Given the description of an element on the screen output the (x, y) to click on. 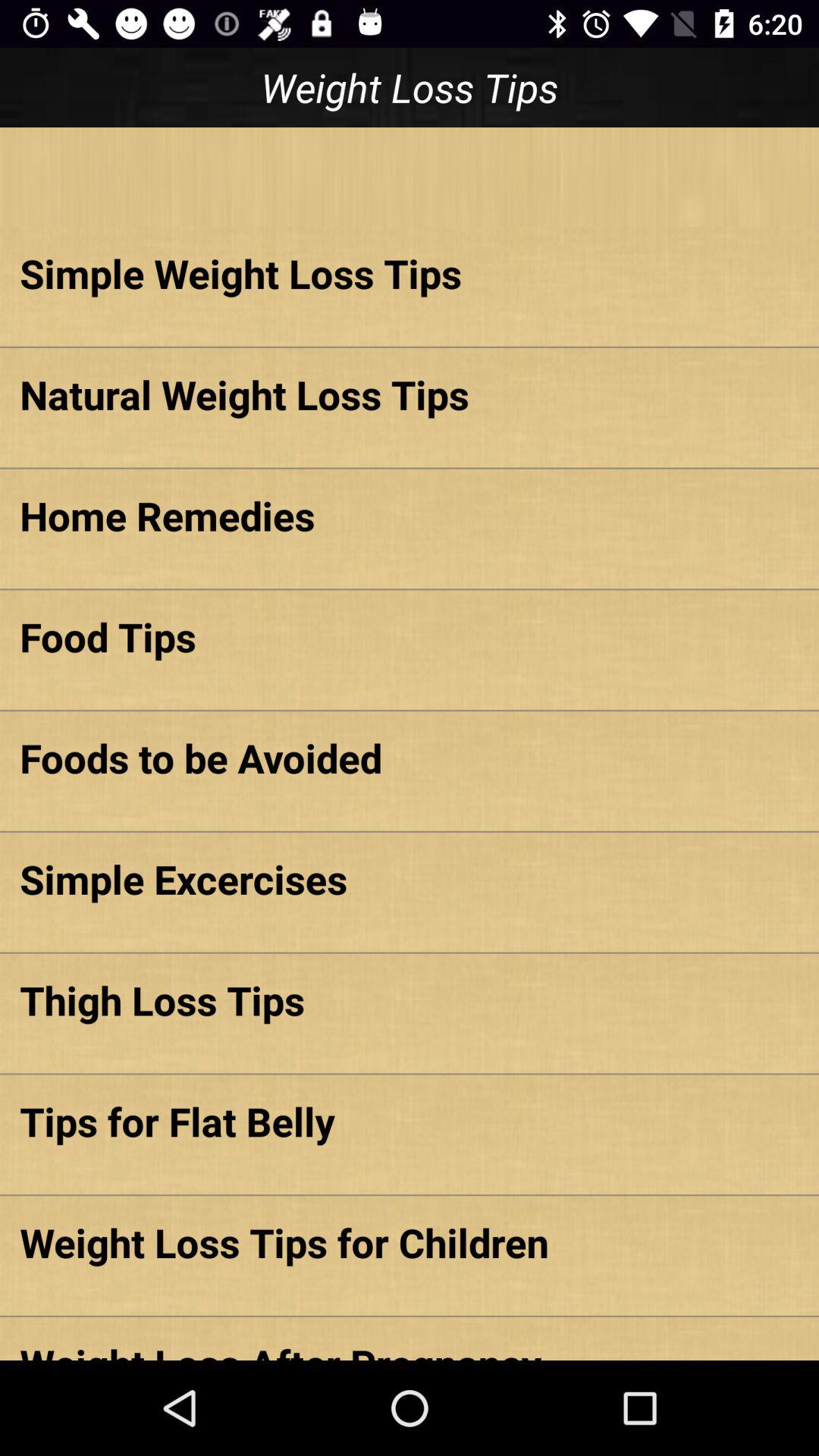
select the item above simple weight loss app (409, 176)
